Given the description of an element on the screen output the (x, y) to click on. 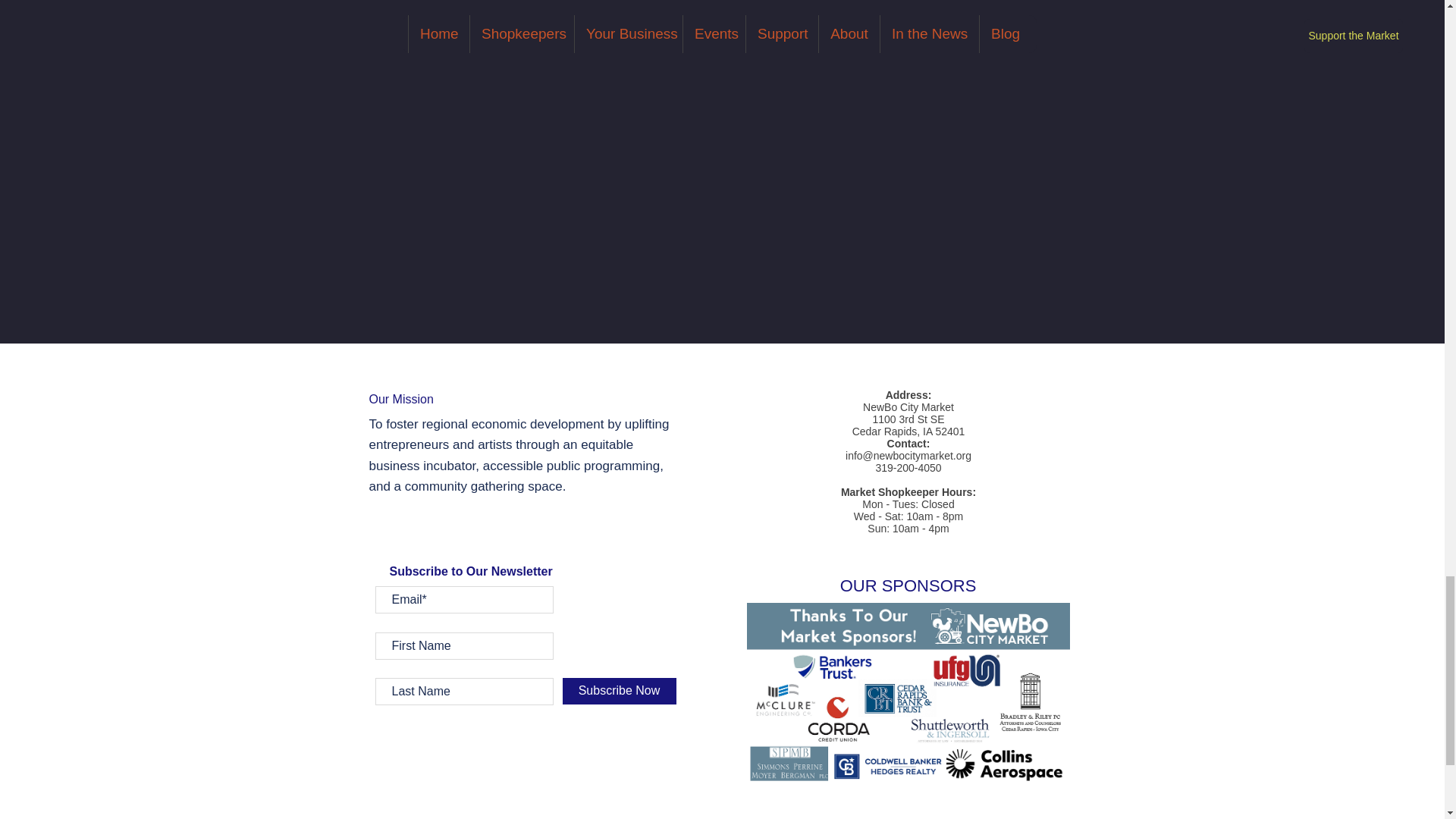
Subscribe Now (619, 691)
